Given the description of an element on the screen output the (x, y) to click on. 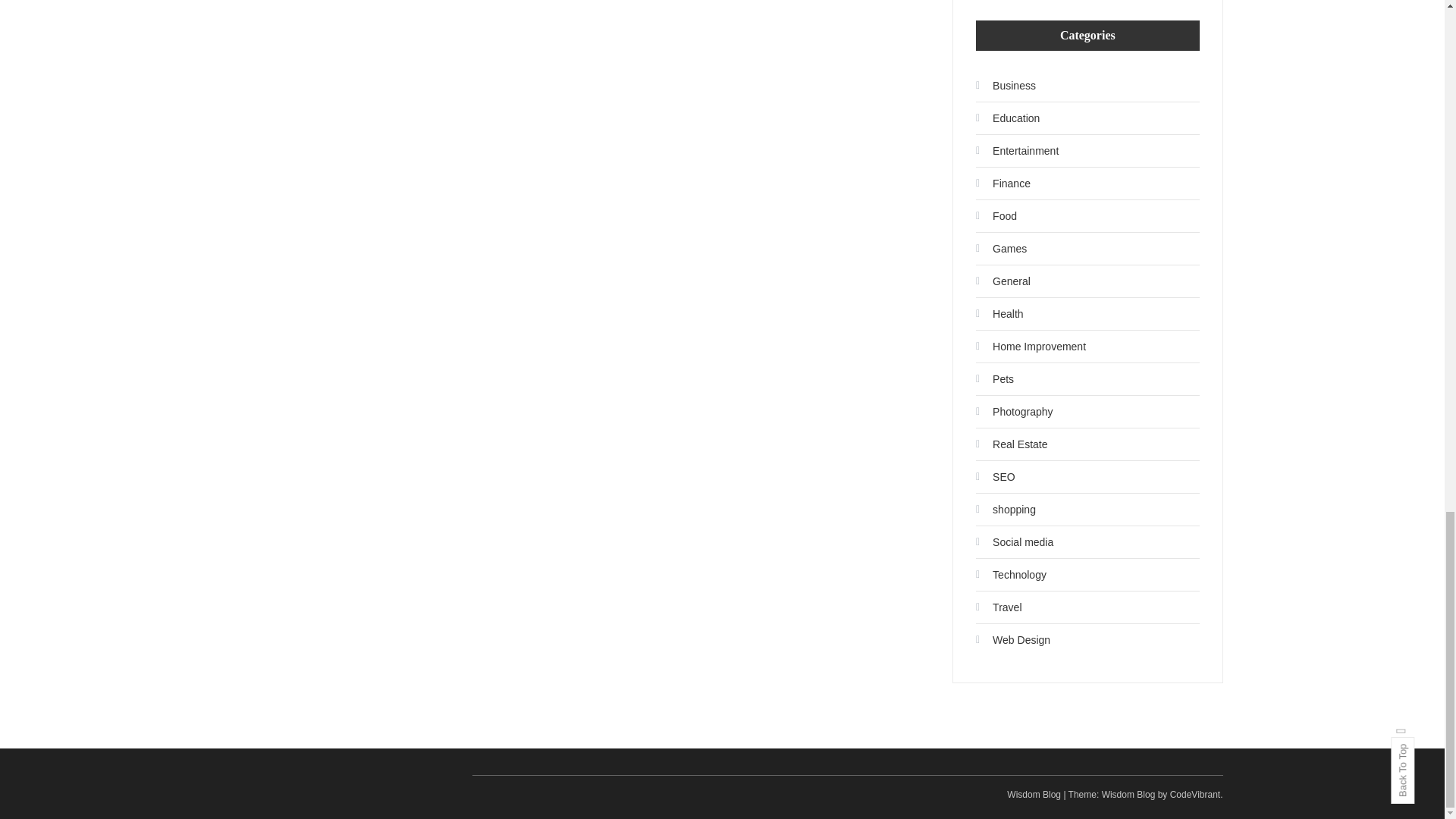
Pets (994, 378)
Real Estate (1010, 444)
Home Improvement (1030, 346)
Food (995, 215)
Finance (1002, 183)
Games (1000, 248)
Entertainment (1016, 150)
Education (1007, 118)
shopping (1005, 509)
General (1002, 281)
Photography (1013, 411)
Business (1005, 85)
Health (999, 313)
SEO (994, 476)
